Given the description of an element on the screen output the (x, y) to click on. 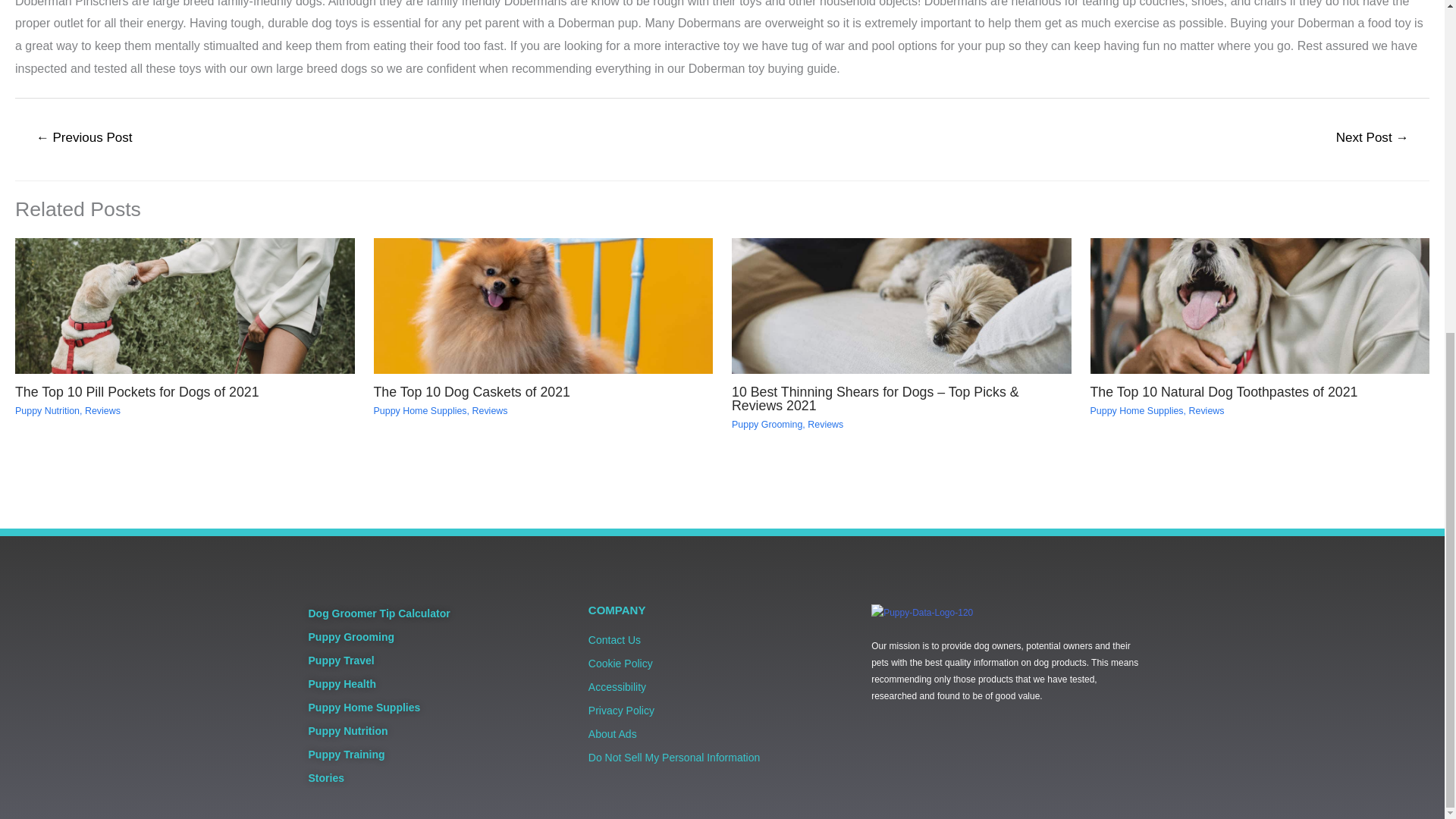
Puppy Grooming (767, 424)
Puppy Nutrition (47, 410)
Reviews (102, 410)
The Top 10 Dog Caskets of 2021 (470, 391)
Puppy Home Supplies (418, 410)
The Top 10 Pill Pockets for Dogs of 2021 (136, 391)
Reviews (488, 410)
